Given the description of an element on the screen output the (x, y) to click on. 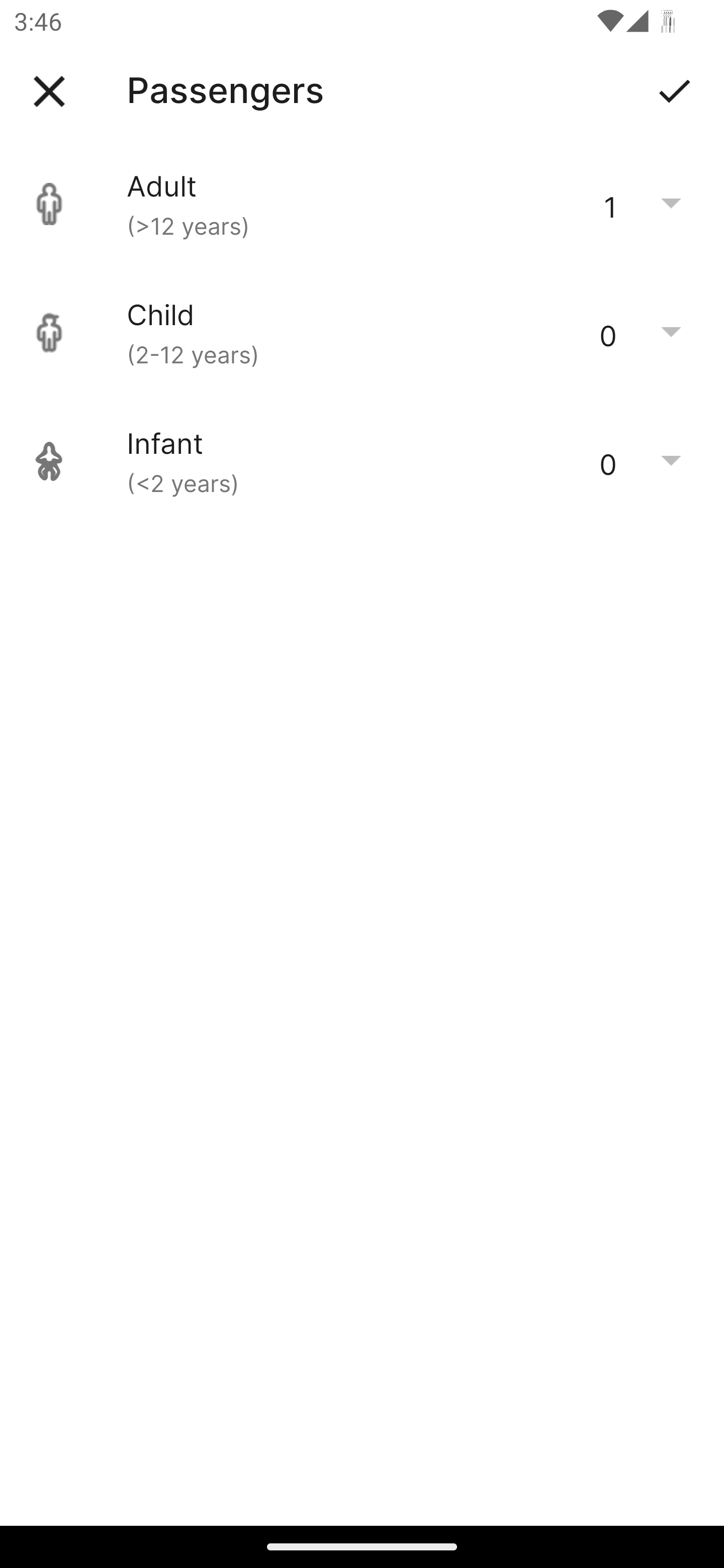
Adult (>12 years) 1 (362, 204)
Child (2-12 years) 0 (362, 332)
Infant (<2 years) 0 (362, 461)
